Given the description of an element on the screen output the (x, y) to click on. 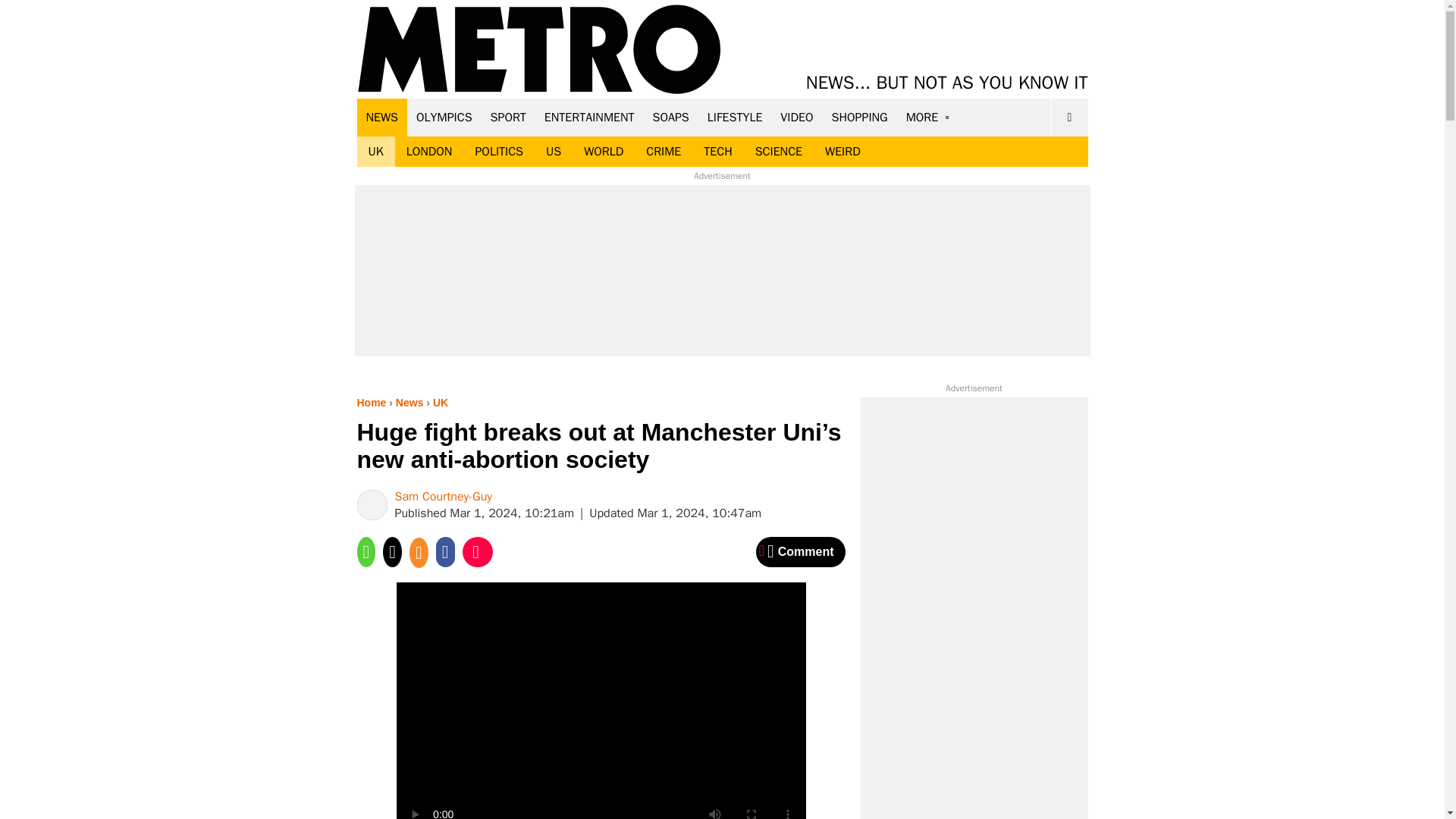
WORLD (603, 151)
LONDON (429, 151)
UK (375, 151)
SCIENCE (778, 151)
SOAPS (670, 117)
SPORT (508, 117)
Metro (539, 50)
POLITICS (498, 151)
LIFESTYLE (734, 117)
TECH (717, 151)
WEIRD (842, 151)
CRIME (663, 151)
US (553, 151)
OLYMPICS (444, 117)
ENTERTAINMENT (589, 117)
